Given the description of an element on the screen output the (x, y) to click on. 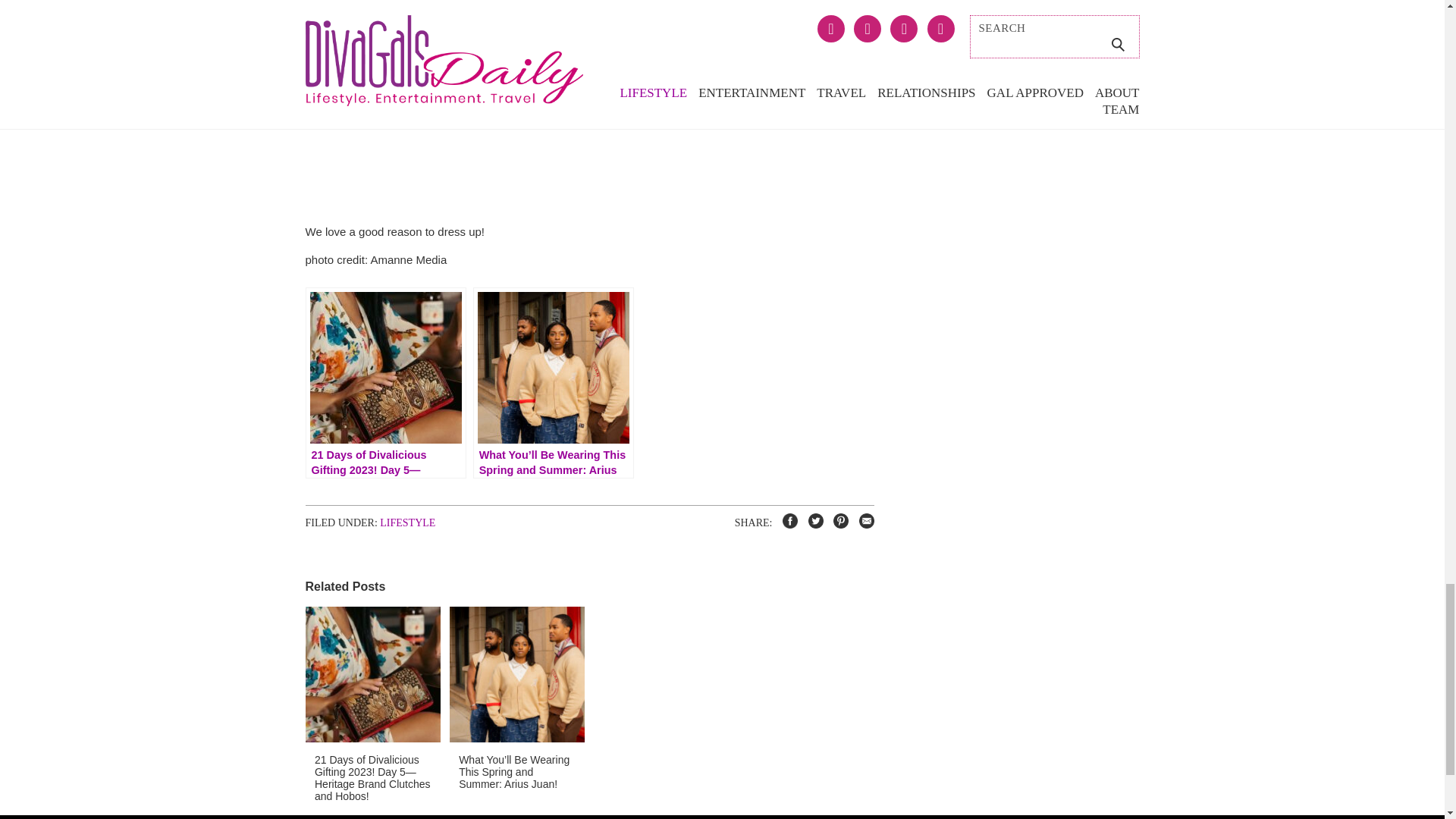
Share on Facebook (787, 522)
Pin on Pinterest (838, 522)
Email This (861, 522)
Tweet This (813, 522)
LIFESTYLE (407, 522)
